Given the description of an element on the screen output the (x, y) to click on. 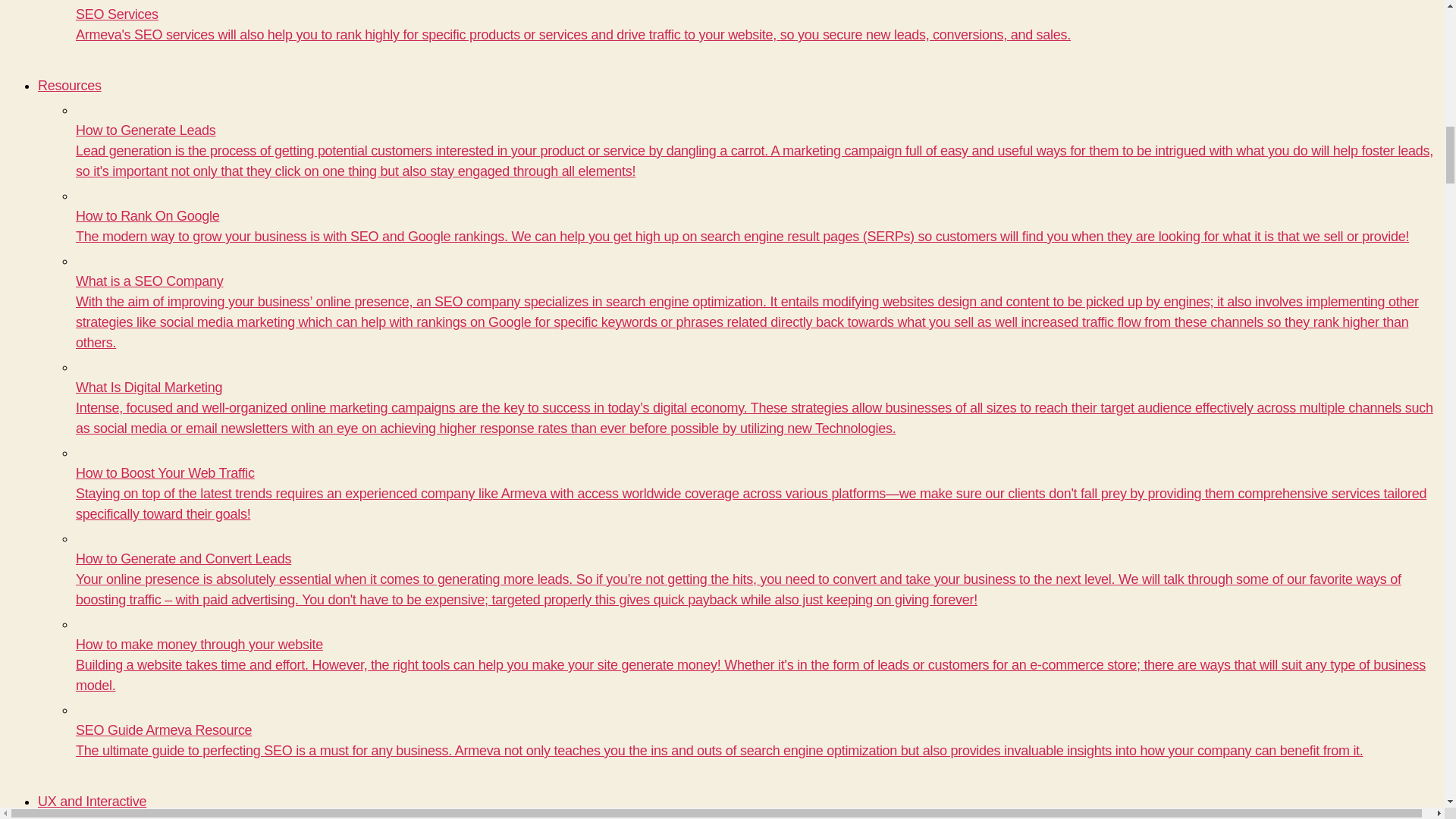
Resources (69, 85)
UX and Interactive (92, 801)
